Given the description of an element on the screen output the (x, y) to click on. 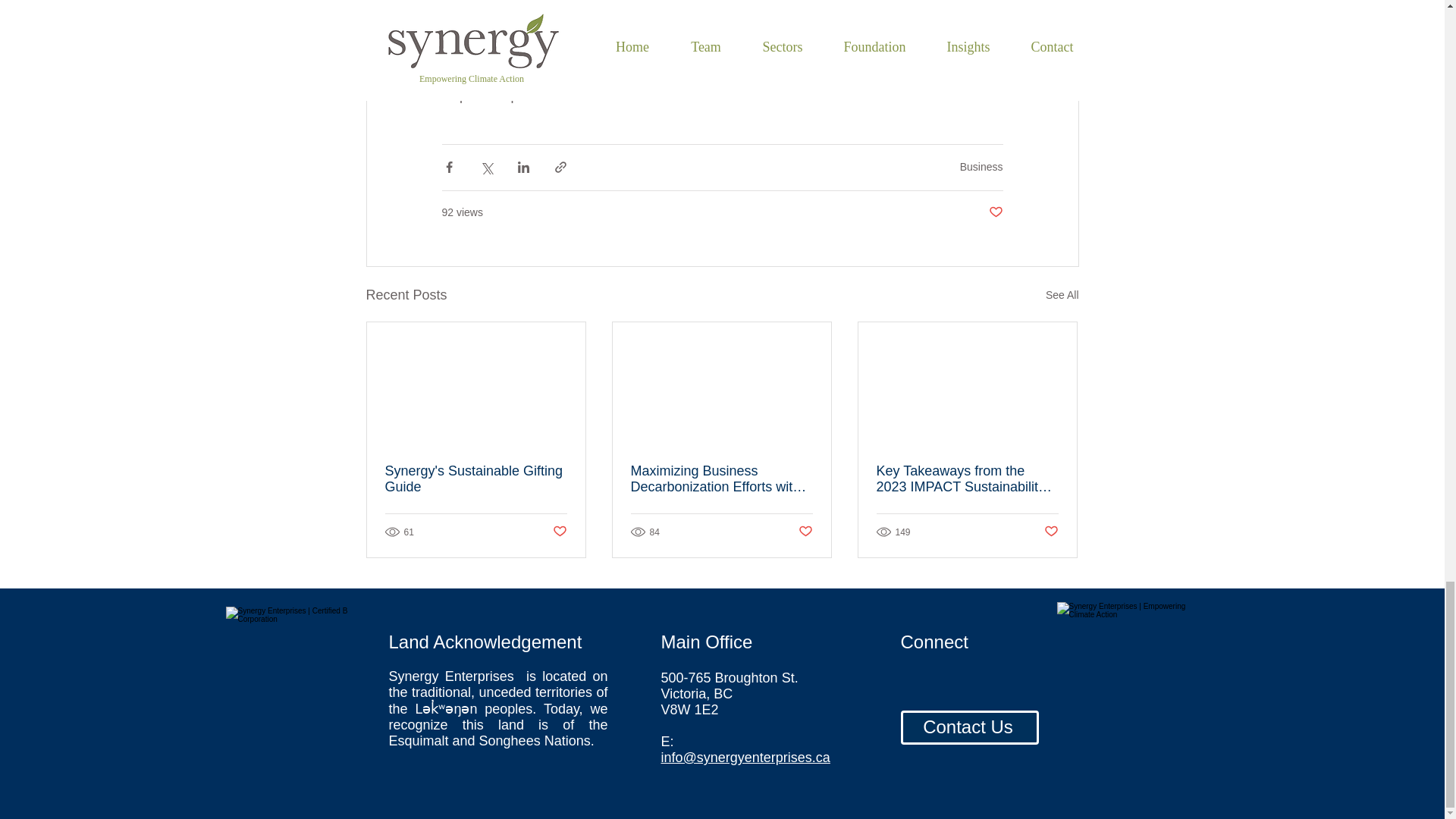
Post not marked as liked (995, 212)
See All (1061, 295)
Business (981, 166)
